Given the description of an element on the screen output the (x, y) to click on. 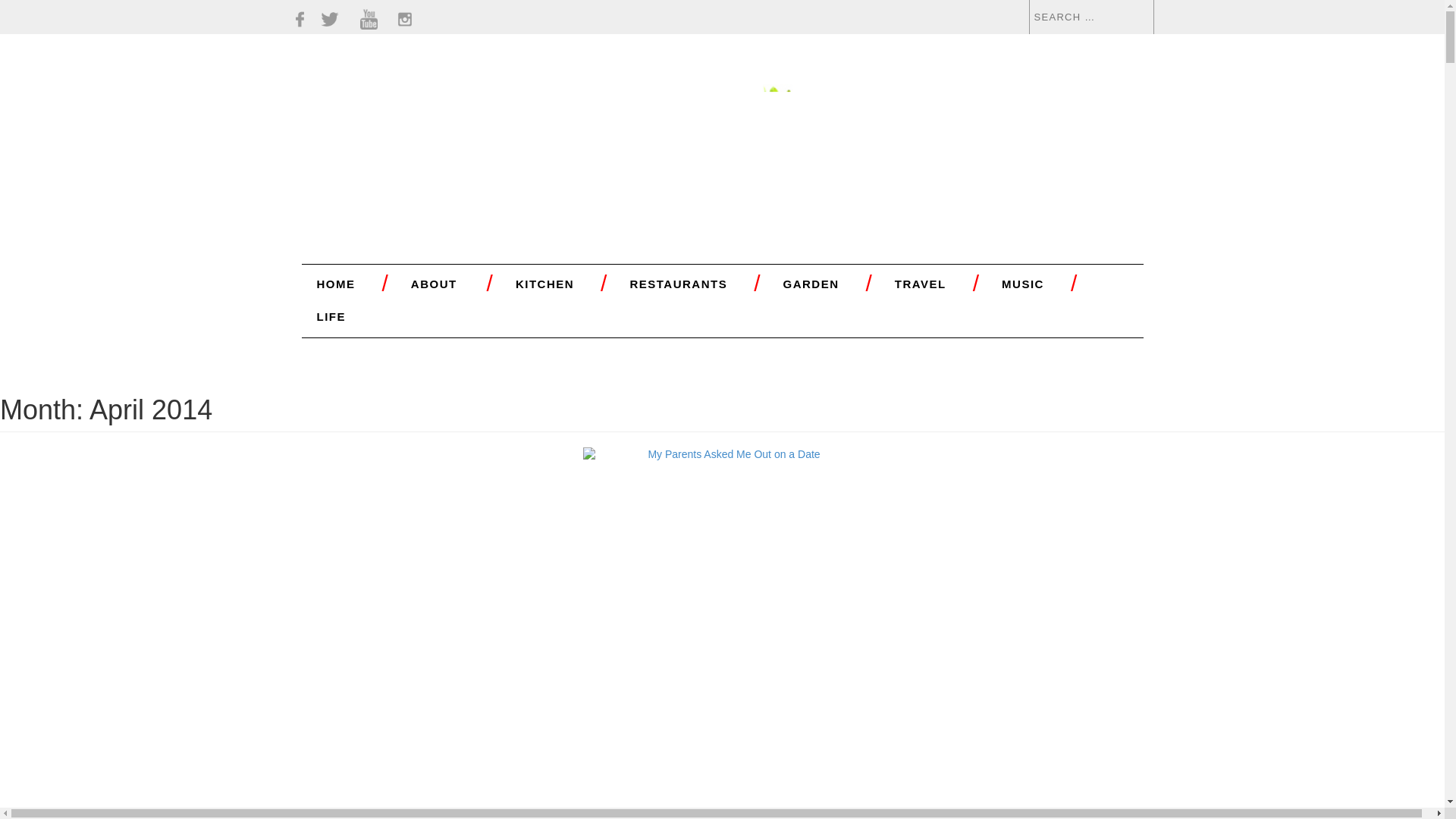
TRAVEL (920, 284)
ABOUT (433, 284)
LIFE (330, 316)
Search (37, 9)
Twitter (329, 19)
Instagram (404, 19)
KITCHEN (544, 284)
GARDEN (810, 284)
HOME (335, 284)
MUSIC (1022, 284)
